Given the description of an element on the screen output the (x, y) to click on. 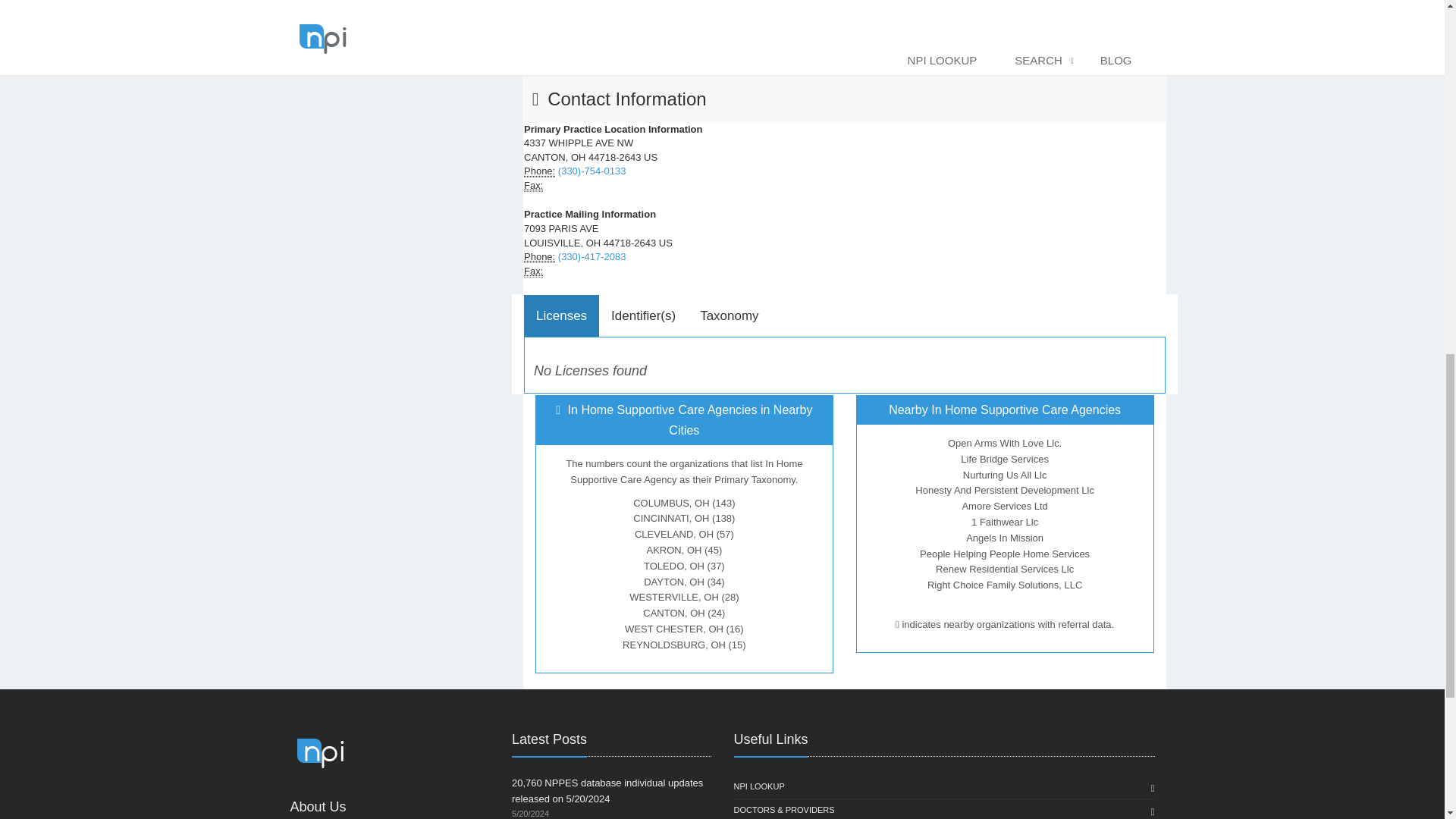
In Home Supportive Care Agencies in CLEVELAND, OH (683, 534)
In Home Supportive Care Agencies in TOLEDO, OH (684, 565)
Advertisement (844, 33)
In Home Supportive Care Agencies in COLUMBUS, OH (684, 502)
Phone (533, 185)
Licenses (561, 315)
Taxonomy (728, 315)
Phone (539, 171)
In Home Supportive Care Agencies in CINCINNATI, OH (684, 518)
Advertisement (400, 14)
Phone (533, 271)
Phone (539, 256)
In Home Supportive Care Agencies in AKRON, OH (684, 550)
